Given the description of an element on the screen output the (x, y) to click on. 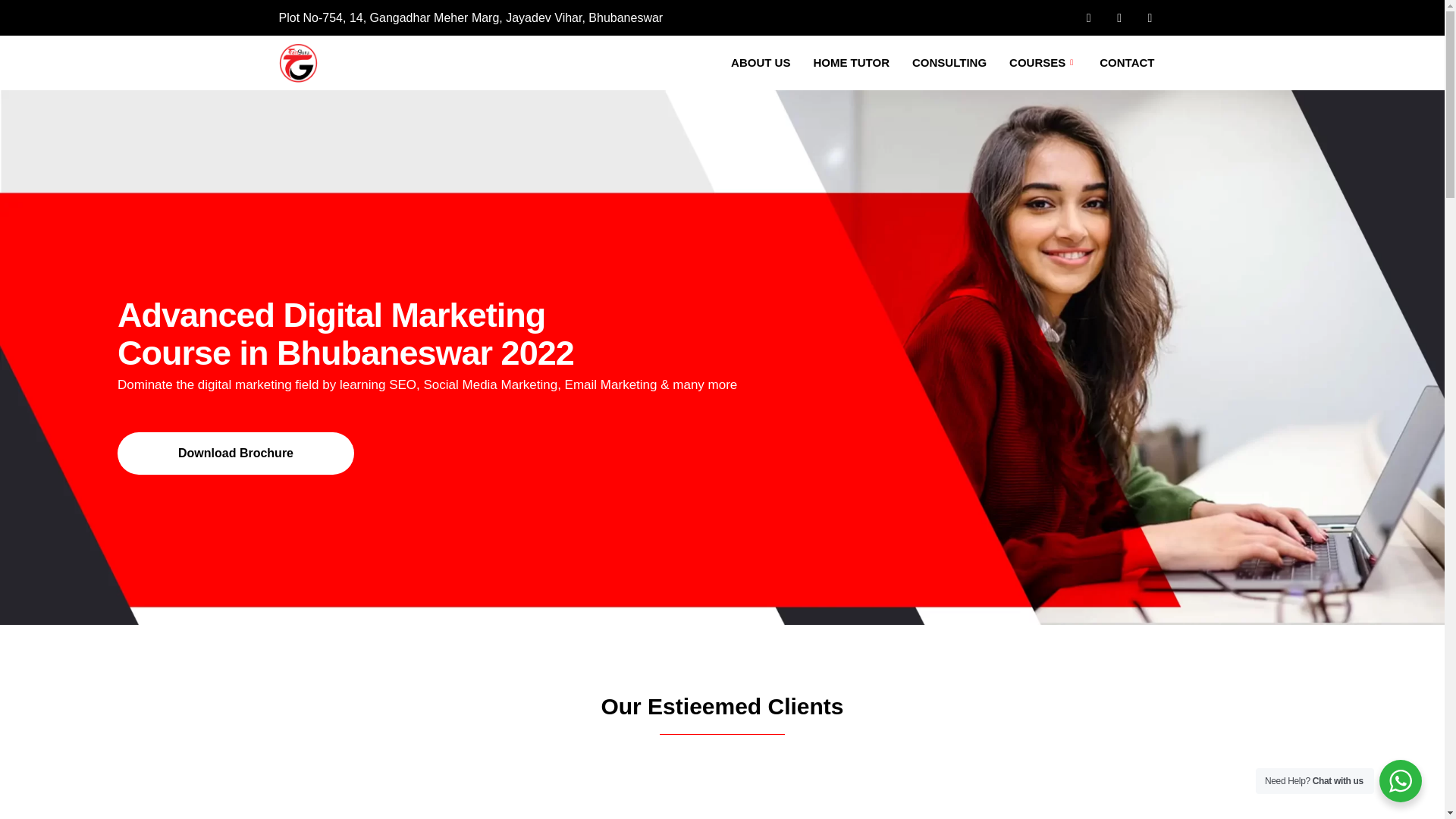
Download Brochure (235, 453)
CONSULTING (949, 62)
CONTACT (1126, 62)
COURSES (1042, 62)
ABOUT US (760, 62)
HOME TUTOR (851, 62)
